Given the description of an element on the screen output the (x, y) to click on. 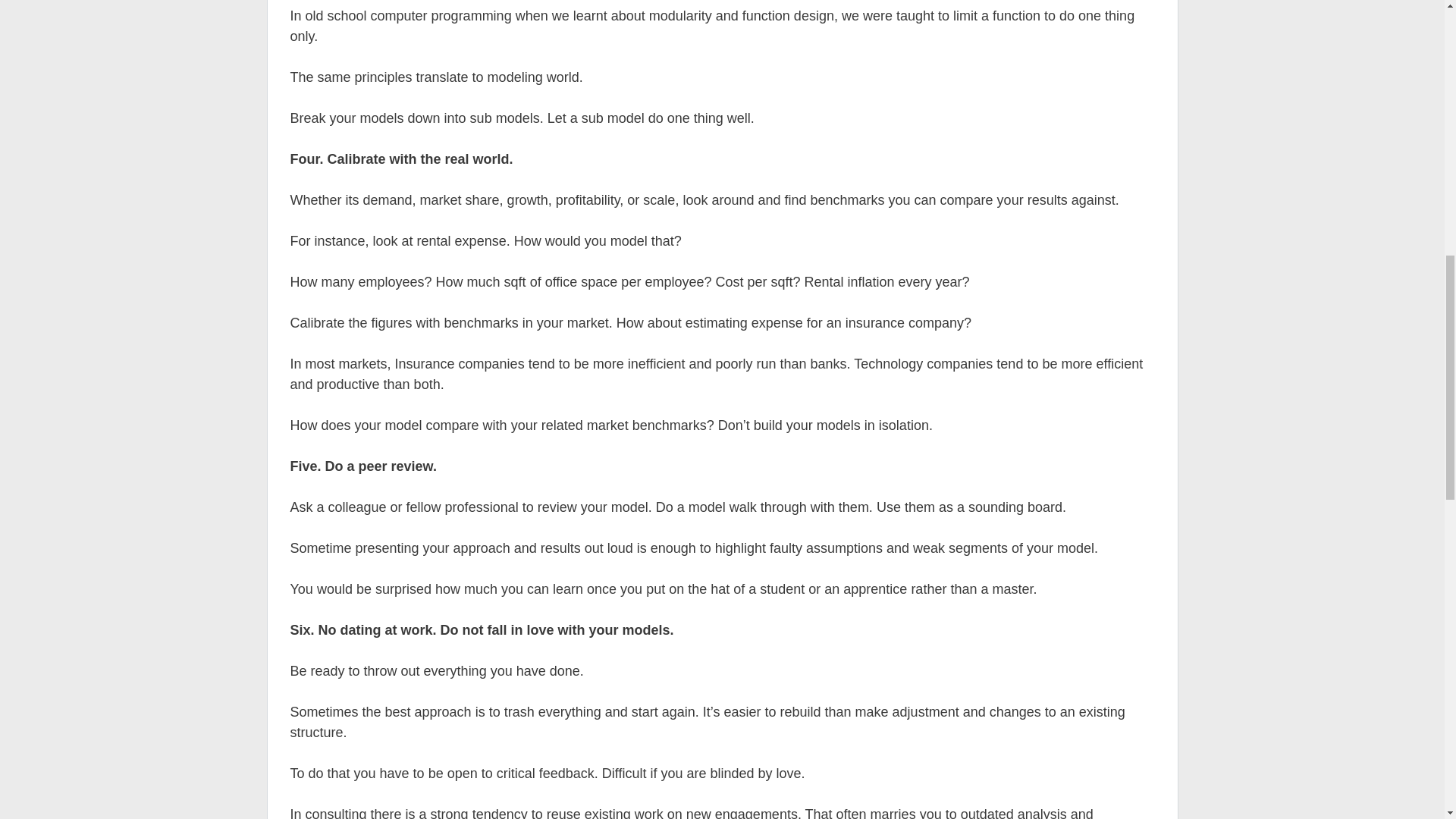
Scroll back to top (1406, 720)
